Given the description of an element on the screen output the (x, y) to click on. 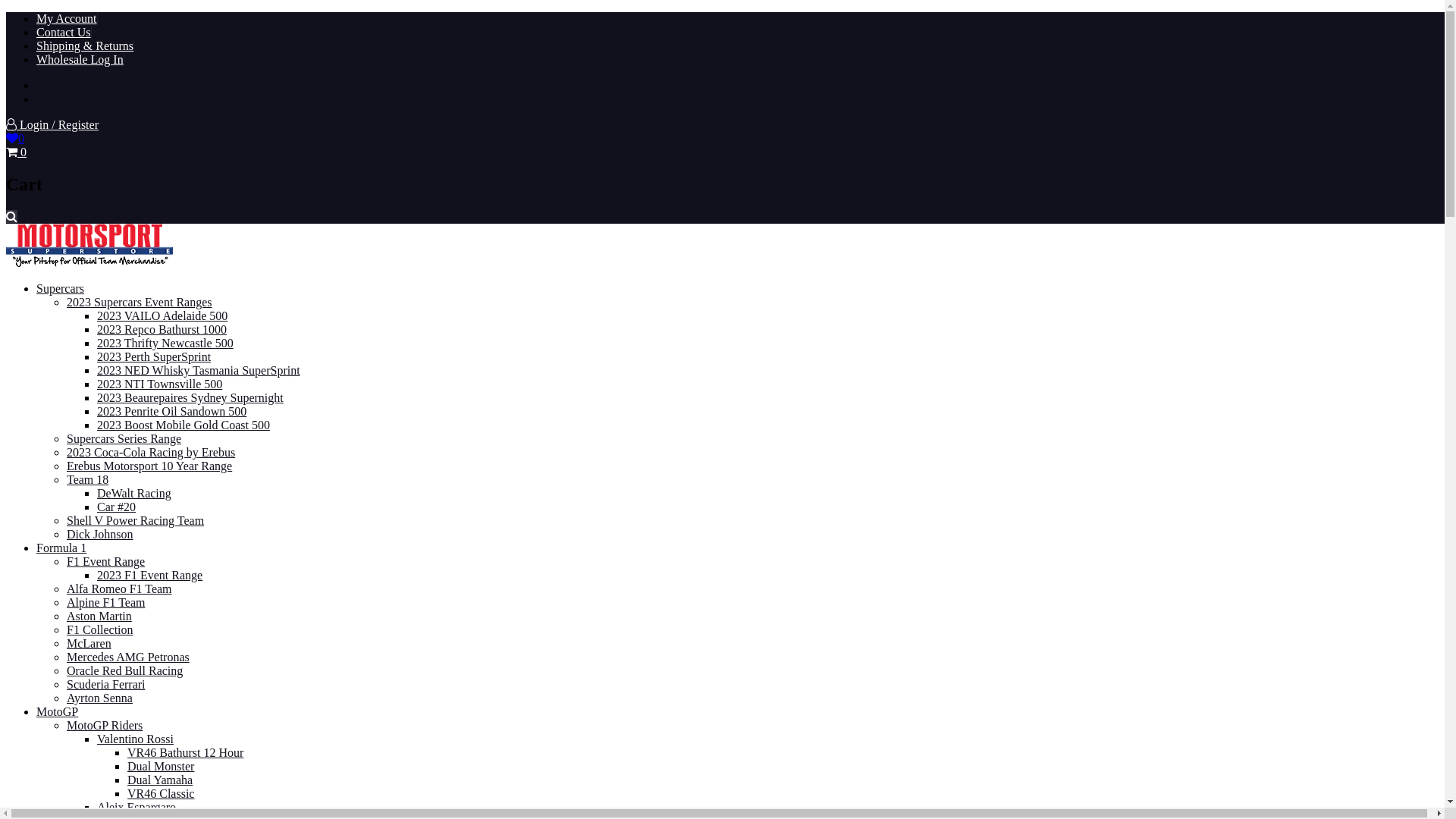
My Account Element type: text (66, 18)
Dick Johnson Element type: text (99, 533)
Dual Yamaha Element type: text (159, 779)
2023 Boost Mobile Gold Coast 500 Element type: text (183, 424)
Team 18 Element type: text (87, 479)
2023 Perth SuperSprint Element type: text (153, 356)
2023 Thrifty Newcastle 500 Element type: text (165, 342)
2023 NTI Townsville 500 Element type: text (159, 383)
F1 Event Range Element type: text (105, 561)
2023 Supercars Event Ranges Element type: text (139, 301)
Oracle Red Bull Racing Element type: text (124, 670)
DeWalt Racing Element type: text (134, 492)
2023 Coca-Cola Racing by Erebus Element type: text (150, 451)
VR46 Bathurst 12 Hour Element type: text (185, 752)
2023 NED Whisky Tasmania SuperSprint Element type: text (198, 370)
Aleix Espargaro Element type: text (136, 806)
Supercars Series Range Element type: text (123, 438)
Mercedes AMG Petronas Element type: text (127, 656)
Formula 1 Element type: text (61, 547)
Shell V Power Racing Team Element type: text (134, 520)
Wholesale Log In Element type: text (80, 59)
Aston Martin Element type: text (98, 615)
MotoGP Element type: text (57, 711)
F1 Collection Element type: text (99, 629)
Contact Us Element type: text (63, 31)
2023 Repco Bathurst 1000 Element type: text (161, 329)
2023 F1 Event Range Element type: text (149, 574)
0 Element type: text (15, 137)
2023 Penrite Oil Sandown 500 Element type: text (171, 410)
Login / Register Element type: text (52, 124)
Alpine F1 Team Element type: text (105, 602)
Alfa Romeo F1 Team Element type: text (119, 588)
Supercars Element type: text (60, 288)
Ayrton Senna Element type: text (99, 697)
Valentino Rossi Element type: text (135, 738)
McLaren Element type: text (88, 643)
VR46 Classic Element type: text (160, 793)
2023 VAILO Adelaide 500 Element type: text (162, 315)
2023 Beaurepaires Sydney Supernight Element type: text (190, 397)
Erebus Motorsport 10 Year Range Element type: text (149, 465)
Shipping & Returns Element type: text (85, 45)
Scuderia Ferrari Element type: text (105, 683)
Dual Monster Element type: text (160, 765)
0 Element type: text (16, 151)
Car #20 Element type: text (116, 506)
MotoGP Riders Element type: text (104, 724)
